Given the description of an element on the screen output the (x, y) to click on. 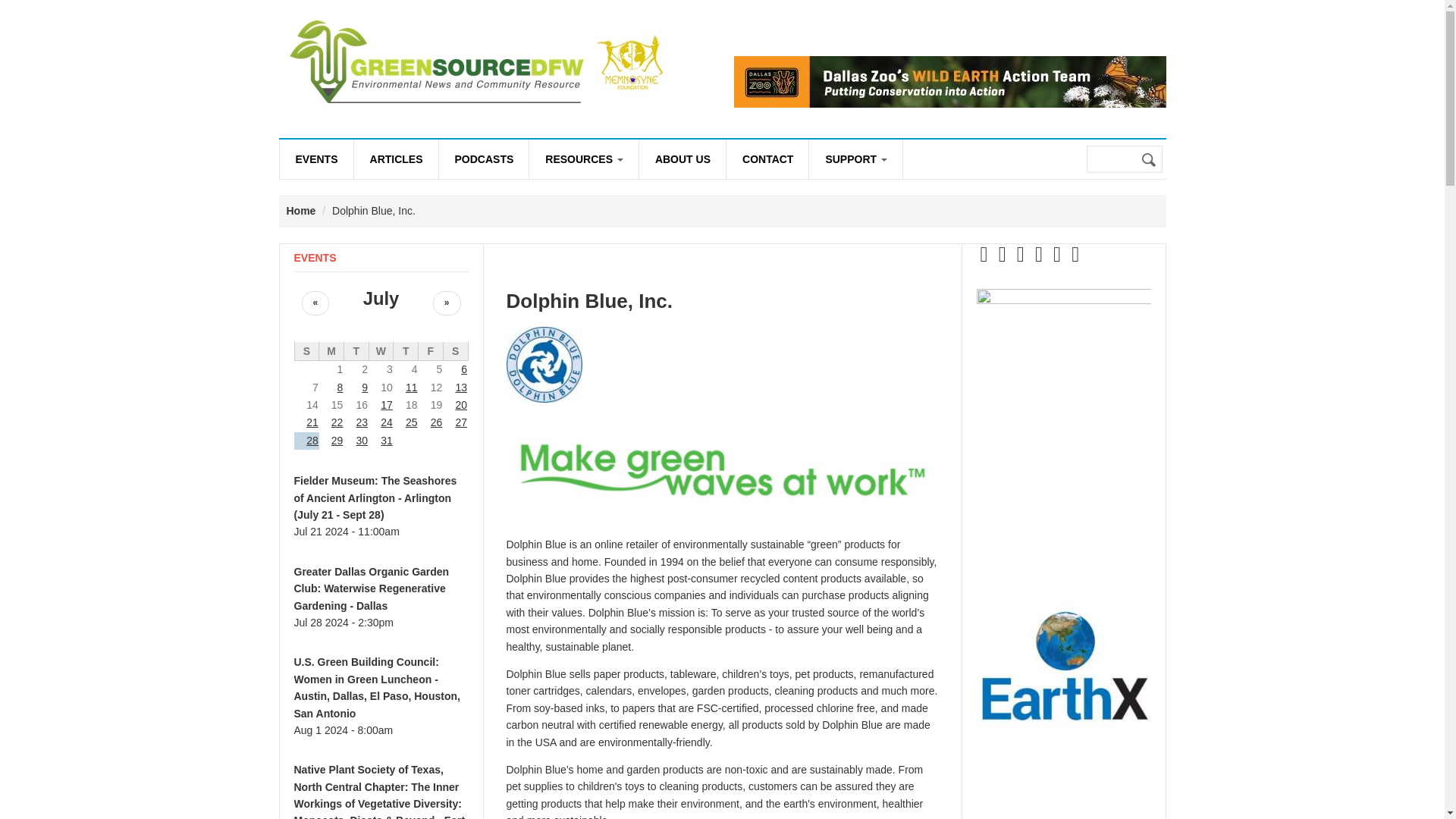
SUPPORT (855, 159)
ARTICLES (395, 159)
Search (1149, 160)
Search (1149, 160)
July (380, 298)
CONTACT (767, 159)
PODCASTS (484, 159)
Dolphin Blue, Inc. (589, 300)
ABOUT US (682, 159)
Navigate to previous month (315, 302)
RESOURCES (584, 159)
Home (300, 210)
6 (464, 369)
Enter the terms you wish to search for. (1123, 158)
Navigate to next month (446, 302)
